Given the description of an element on the screen output the (x, y) to click on. 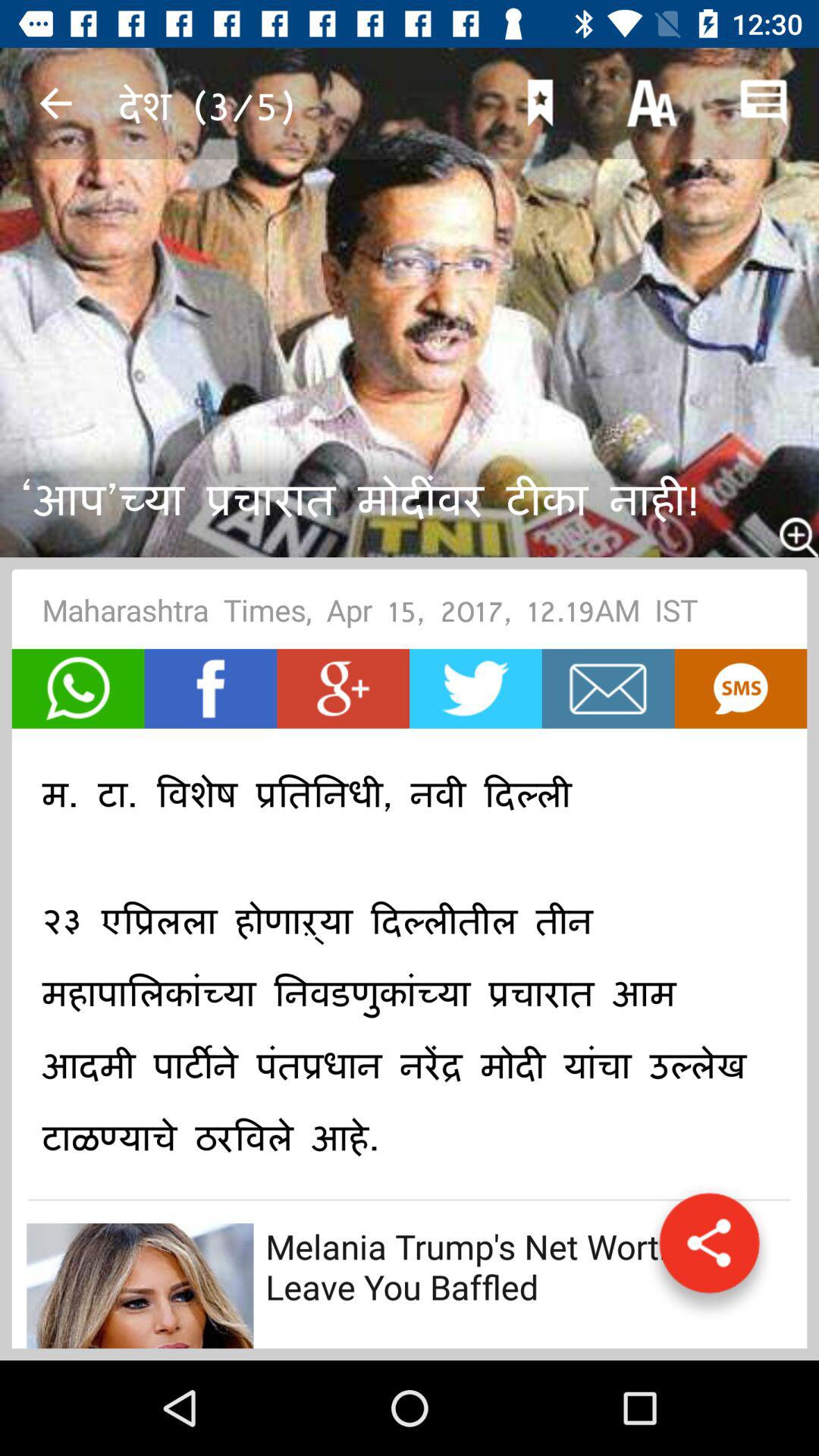
send message (77, 688)
